Given the description of an element on the screen output the (x, y) to click on. 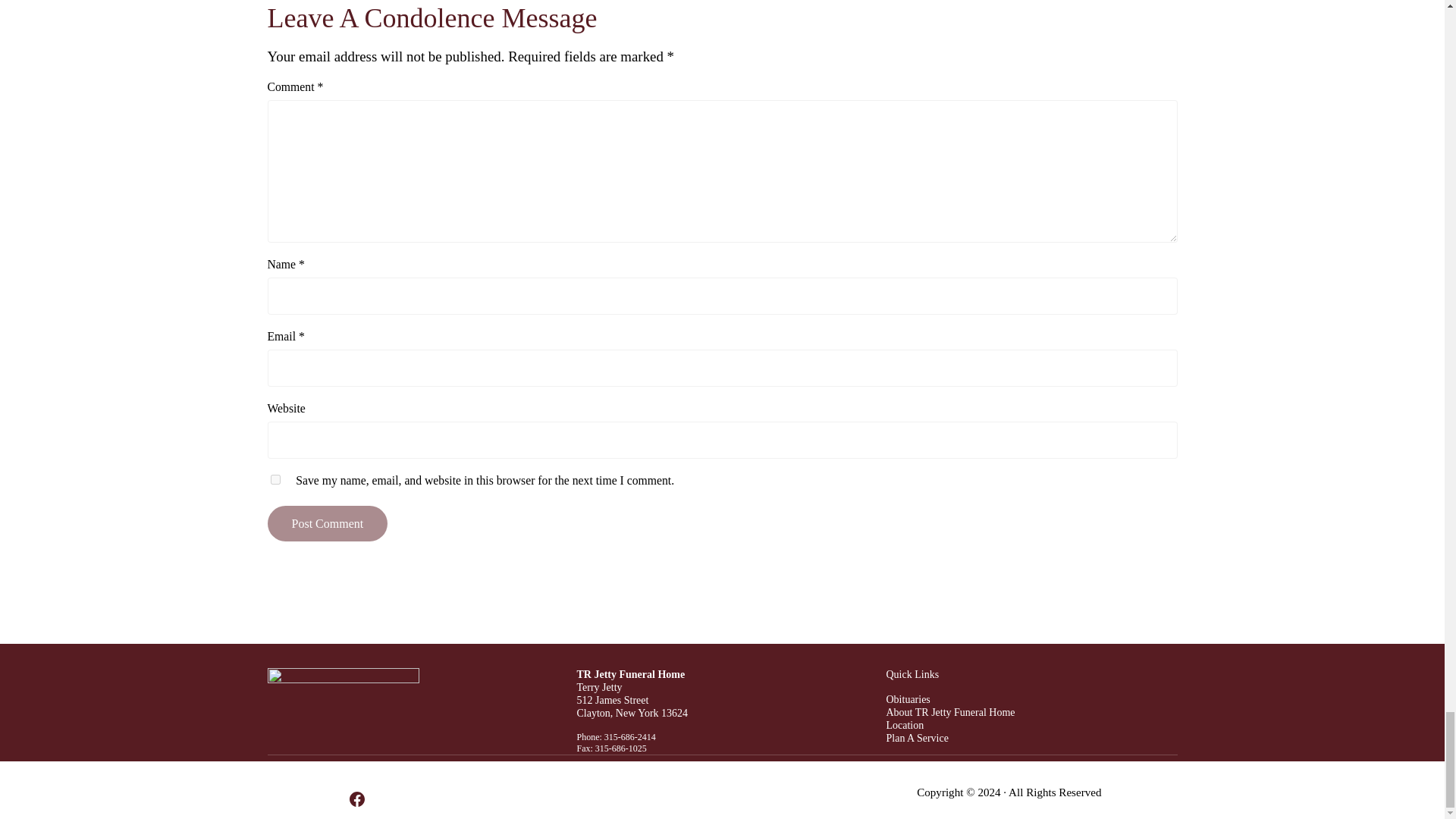
Post Comment (326, 523)
yes (274, 479)
